Given the description of an element on the screen output the (x, y) to click on. 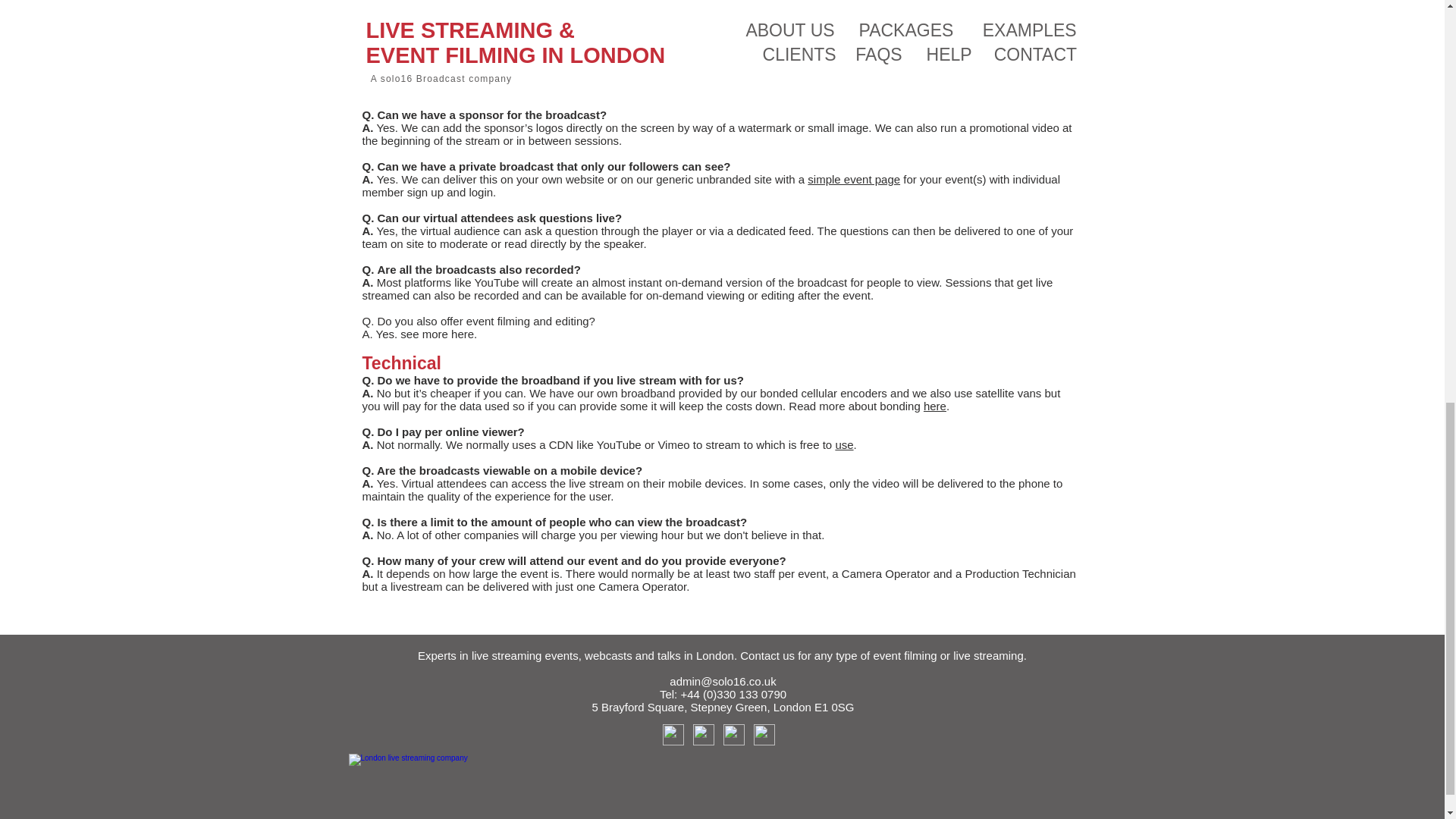
event filming (904, 655)
London. (715, 655)
here (934, 405)
simple event page (853, 178)
events, webcasts and talks (612, 655)
use (843, 444)
EVENT TV (756, 75)
